Given the description of an element on the screen output the (x, y) to click on. 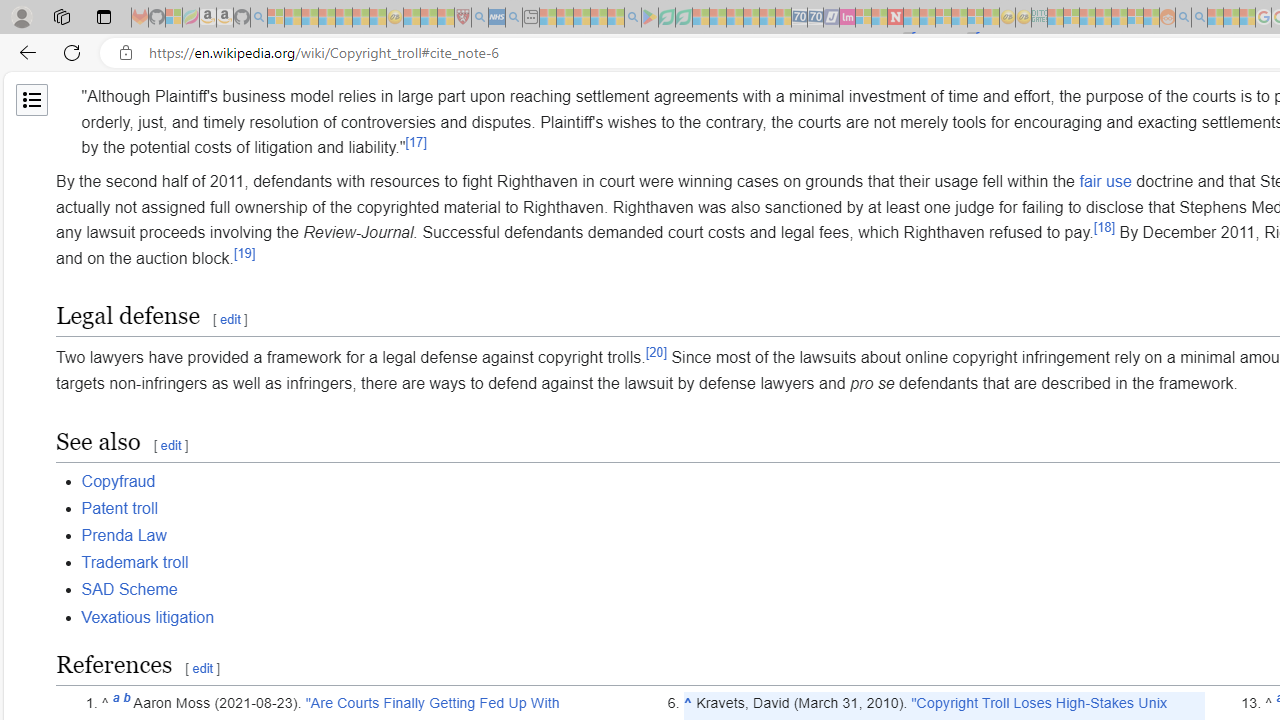
Trusted Community Engagement and Contributions | Guidelines (911, 17)
Tab actions menu (104, 16)
Pets - MSN - Sleeping (598, 17)
[19] (244, 252)
New tab - Sleeping (530, 17)
Utah sues federal government - Search - Sleeping (1199, 17)
Kinda Frugal - MSN - Sleeping (1119, 17)
[17] (415, 143)
b (126, 703)
